Given the description of an element on the screen output the (x, y) to click on. 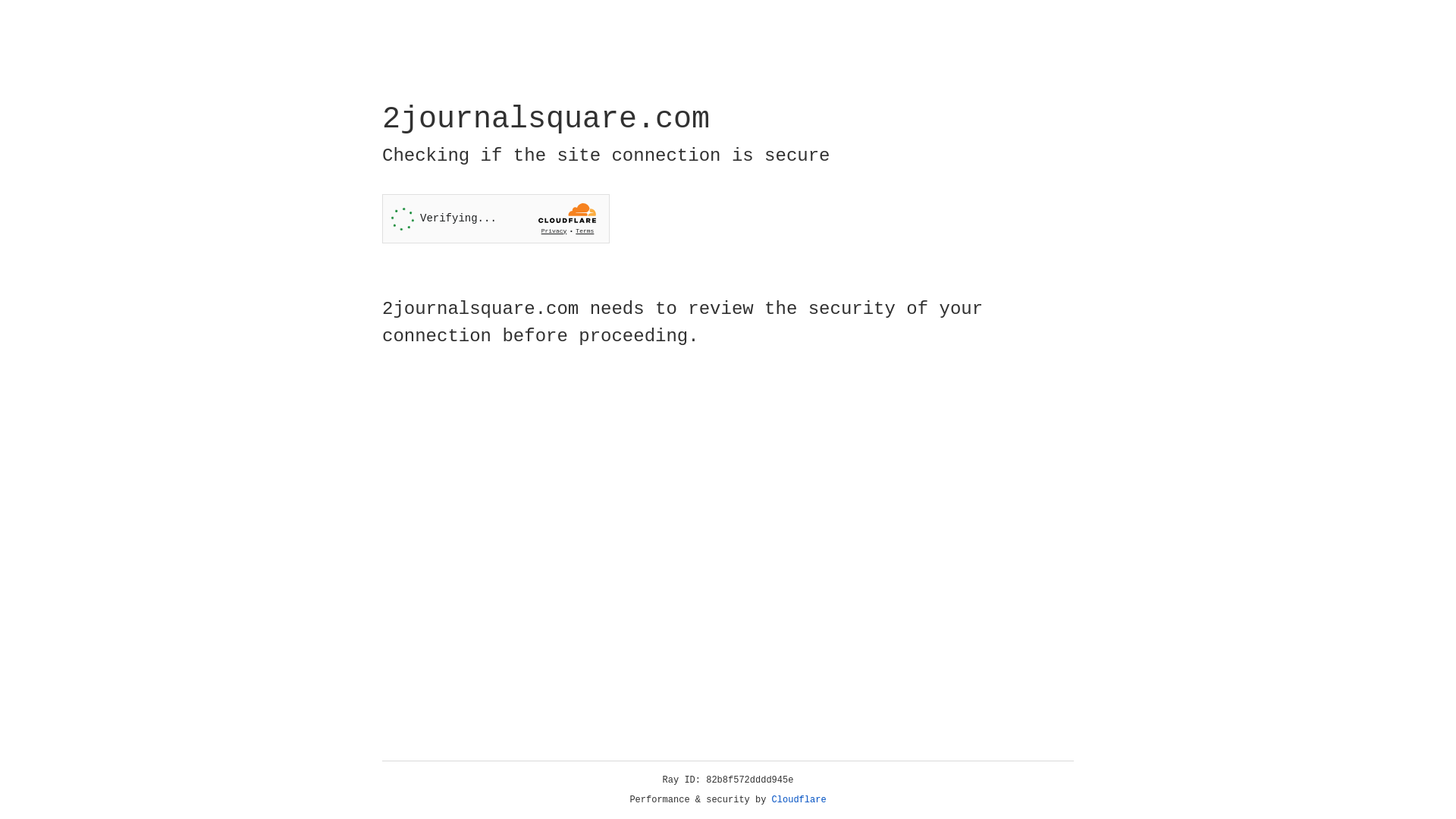
Widget containing a Cloudflare security challenge Element type: hover (495, 218)
Cloudflare Element type: text (798, 799)
